Given the description of an element on the screen output the (x, y) to click on. 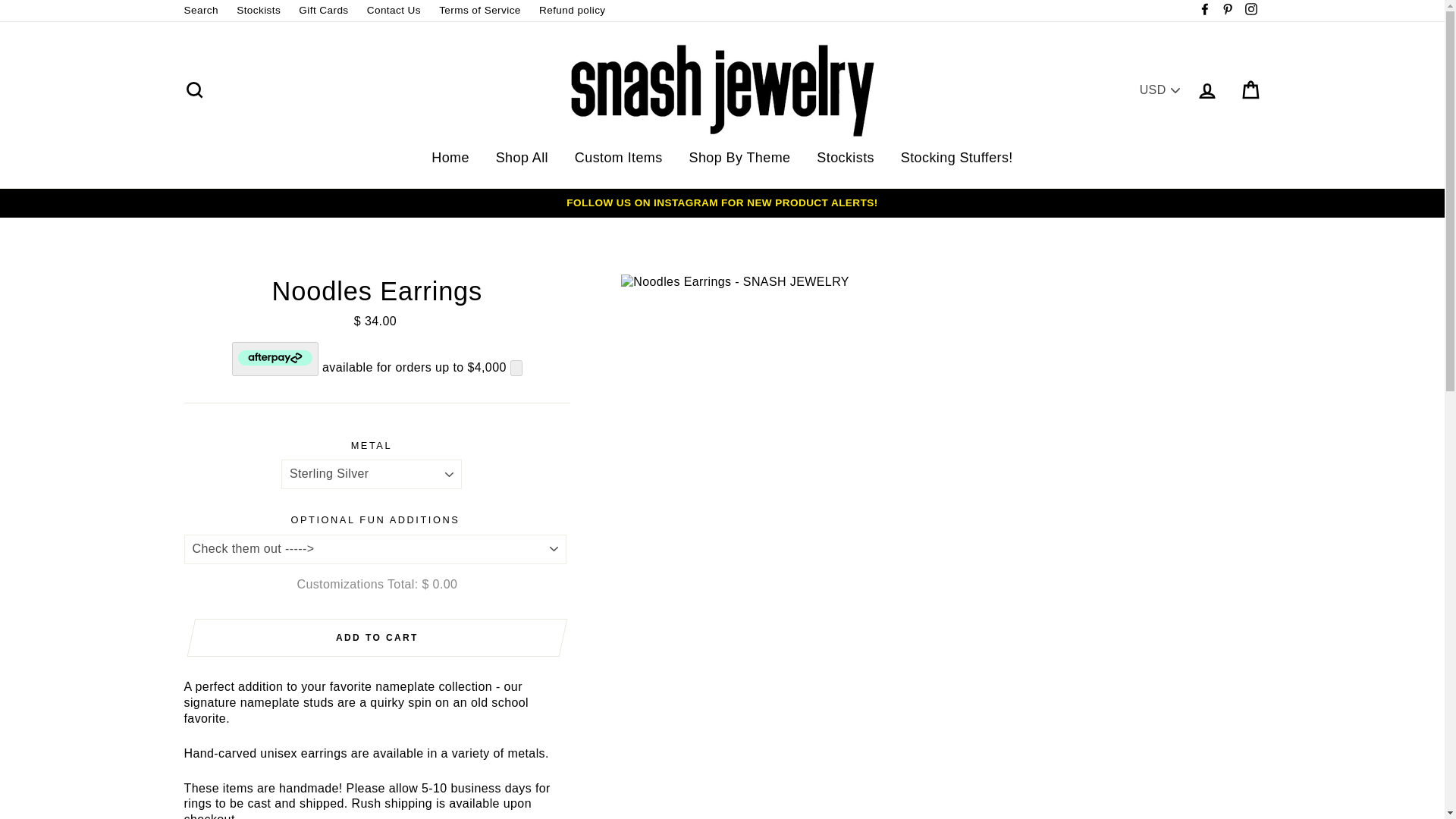
SNASH JEWELRY on Pinterest (1227, 10)
SNASH JEWELRY on Instagram (1250, 10)
SNASH JEWELRY on Facebook (1204, 10)
